Given the description of an element on the screen output the (x, y) to click on. 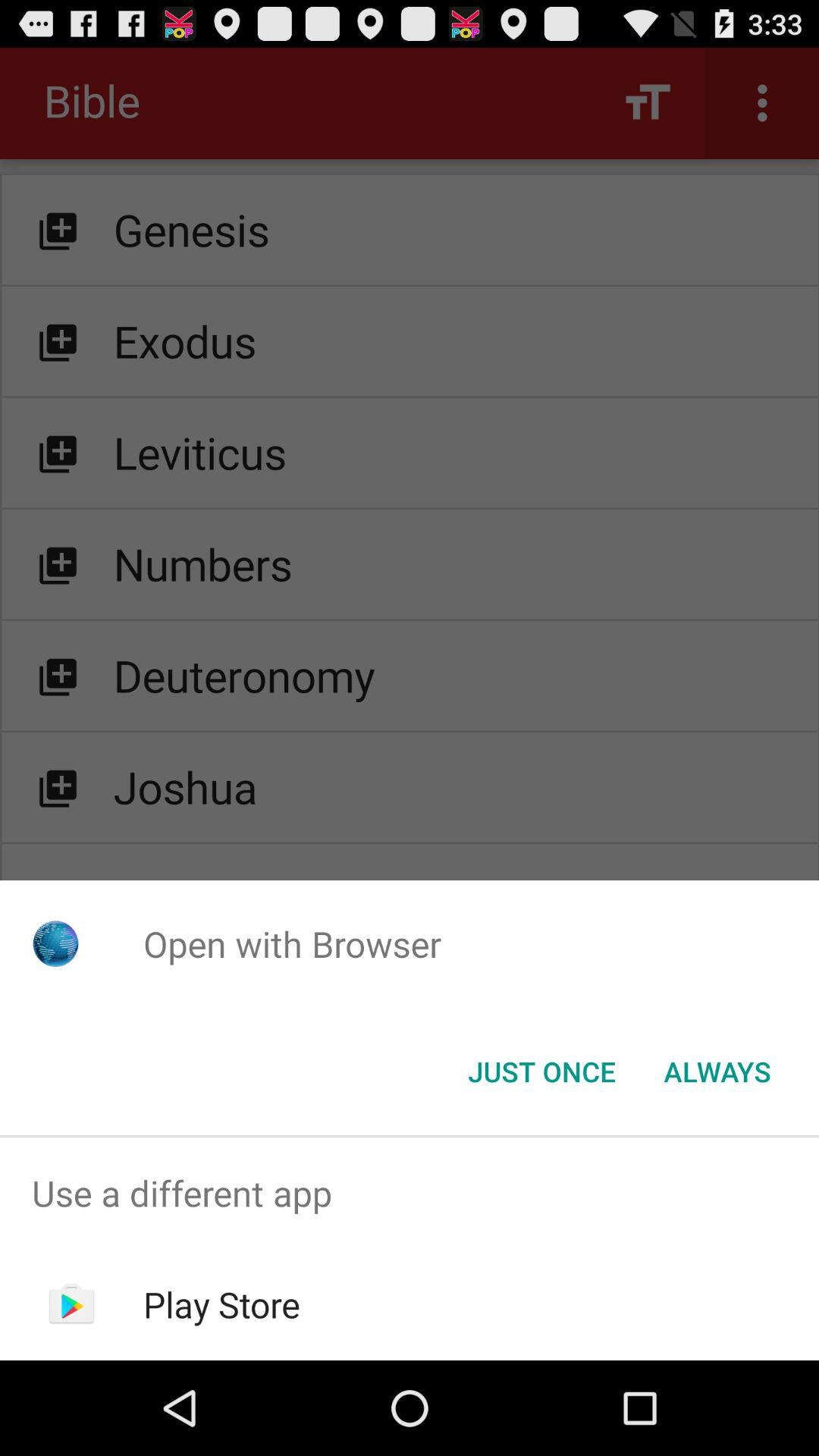
click just once item (541, 1071)
